Given the description of an element on the screen output the (x, y) to click on. 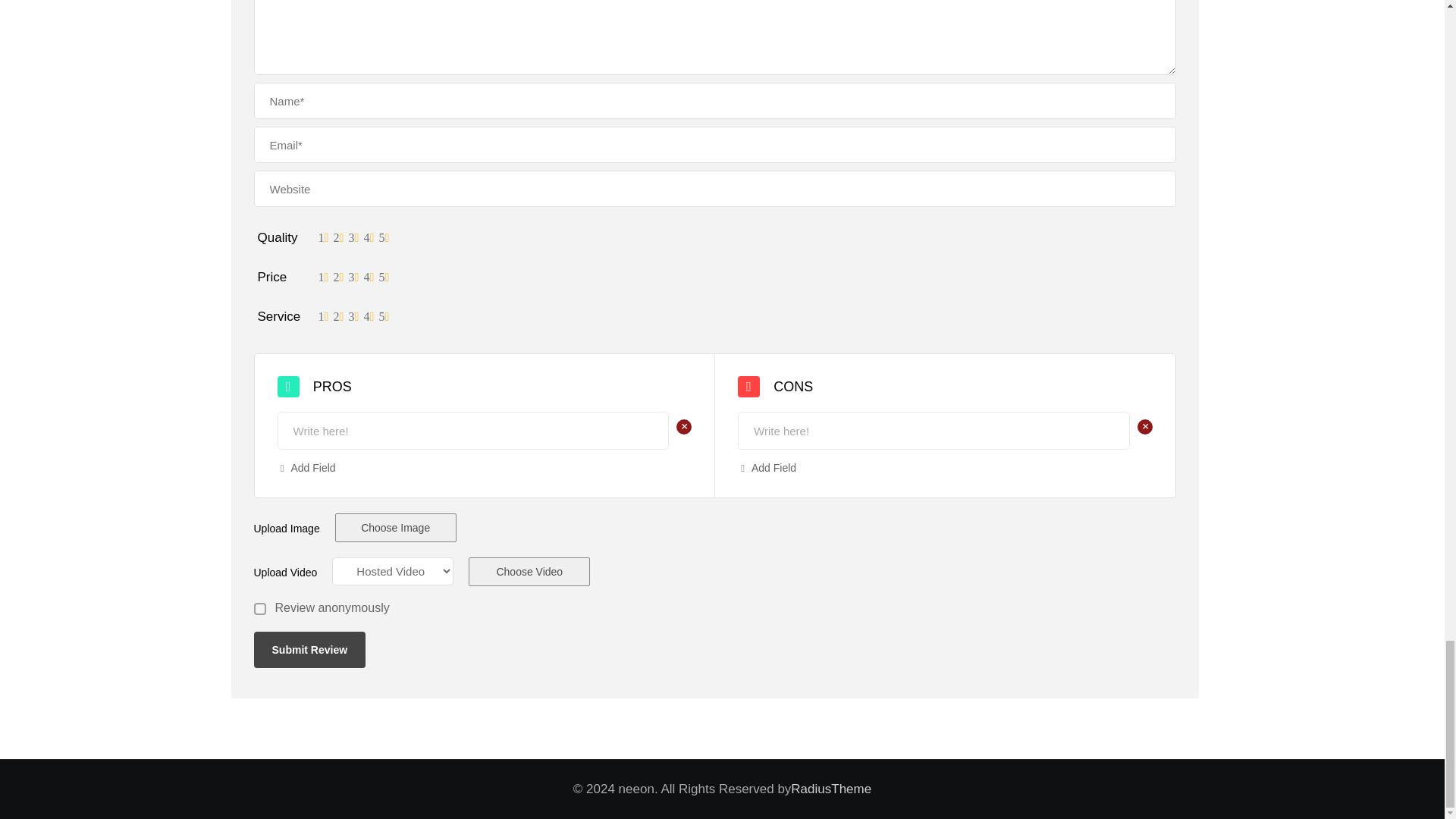
RadiusTheme (830, 789)
Submit Review (309, 649)
Submit Review (309, 649)
